Given the description of an element on the screen output the (x, y) to click on. 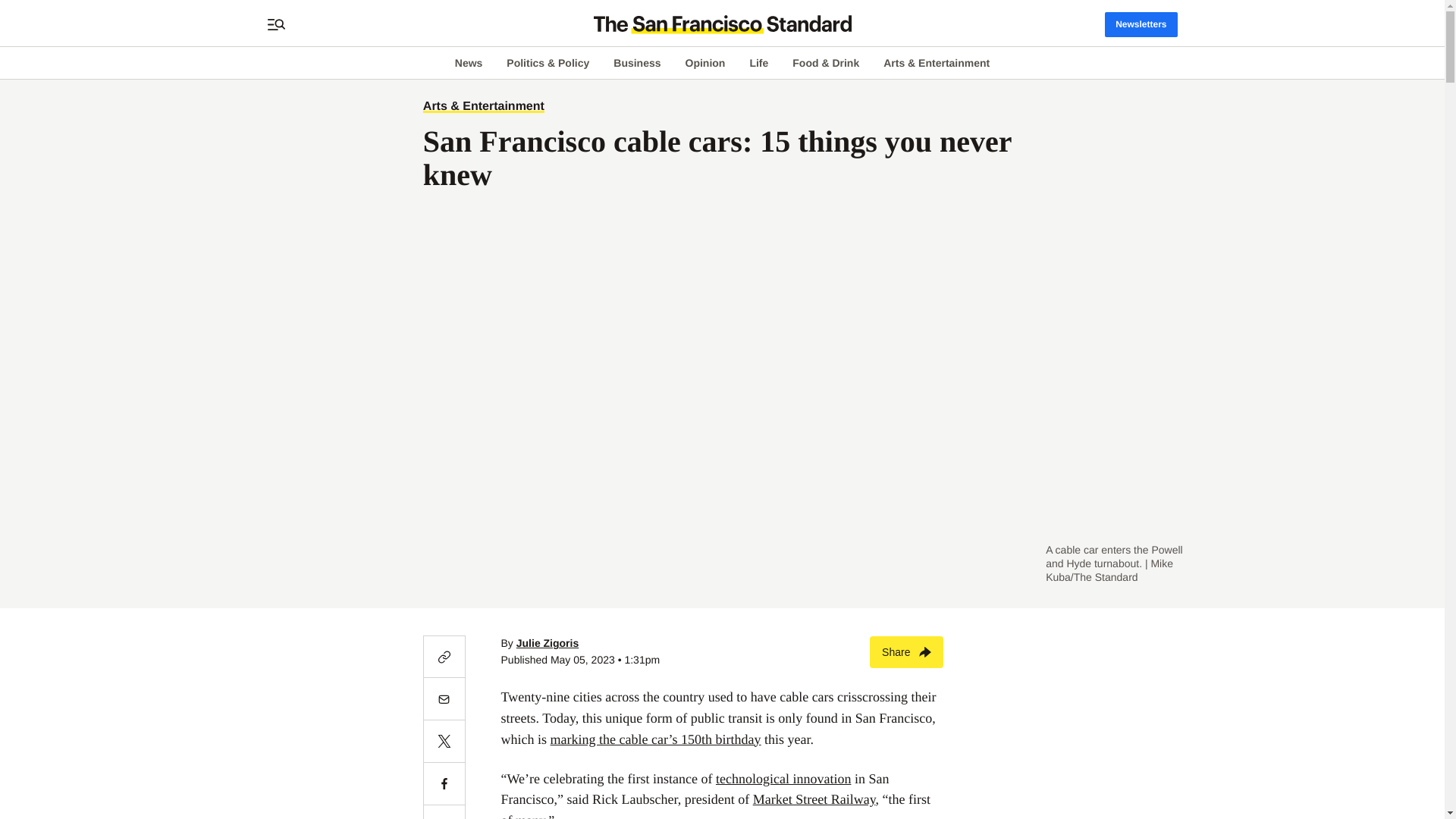
Copy link to this article (444, 656)
Julie Zigoris (547, 643)
Newsletters (1140, 24)
Life (758, 62)
Open search bar and full menu (275, 24)
Opinion (705, 62)
technological innovation (783, 778)
Business (636, 62)
News (468, 62)
Share (906, 652)
Market Street Railway (814, 798)
